Given the description of an element on the screen output the (x, y) to click on. 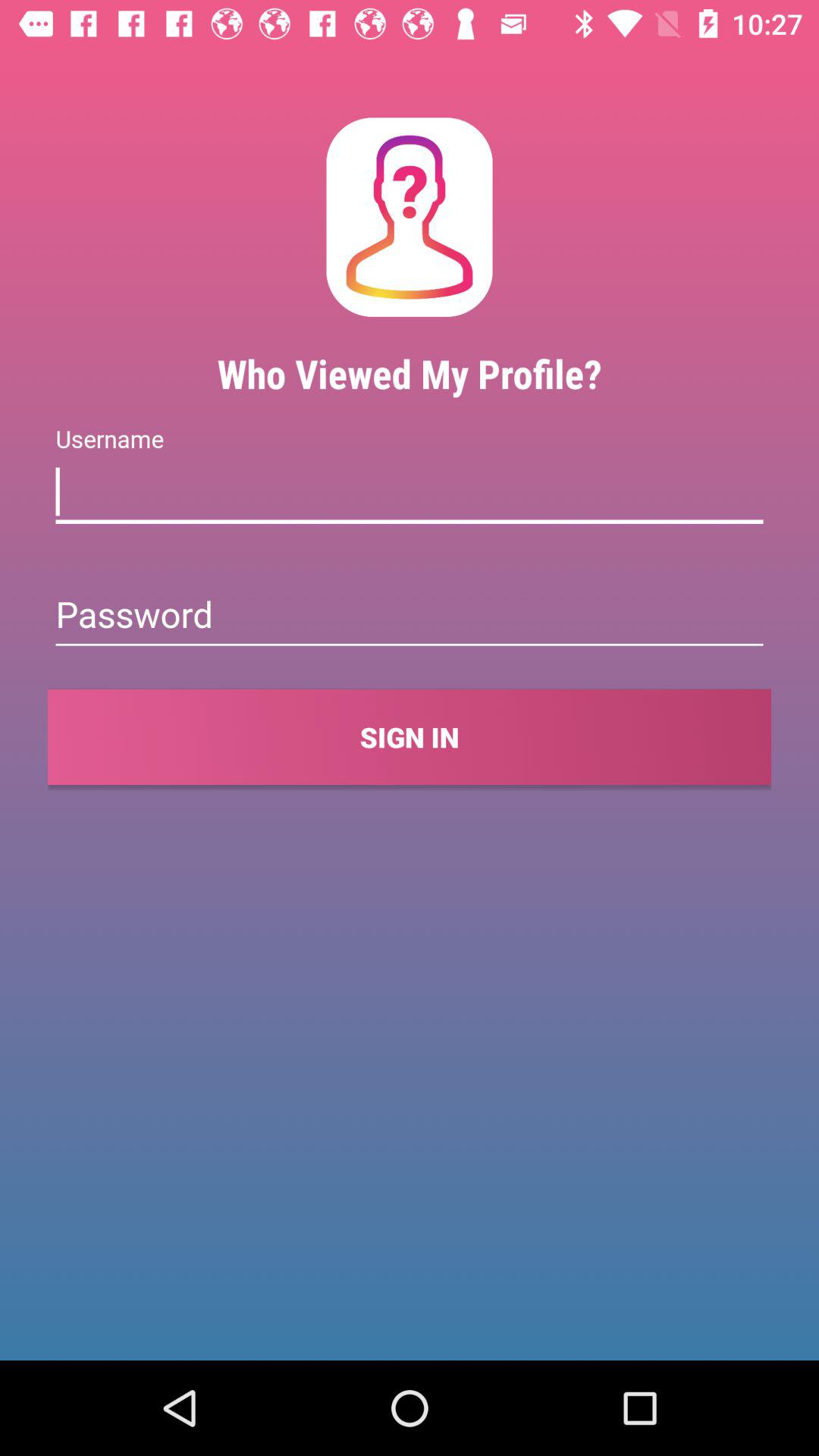
scroll to sign in (409, 736)
